Given the description of an element on the screen output the (x, y) to click on. 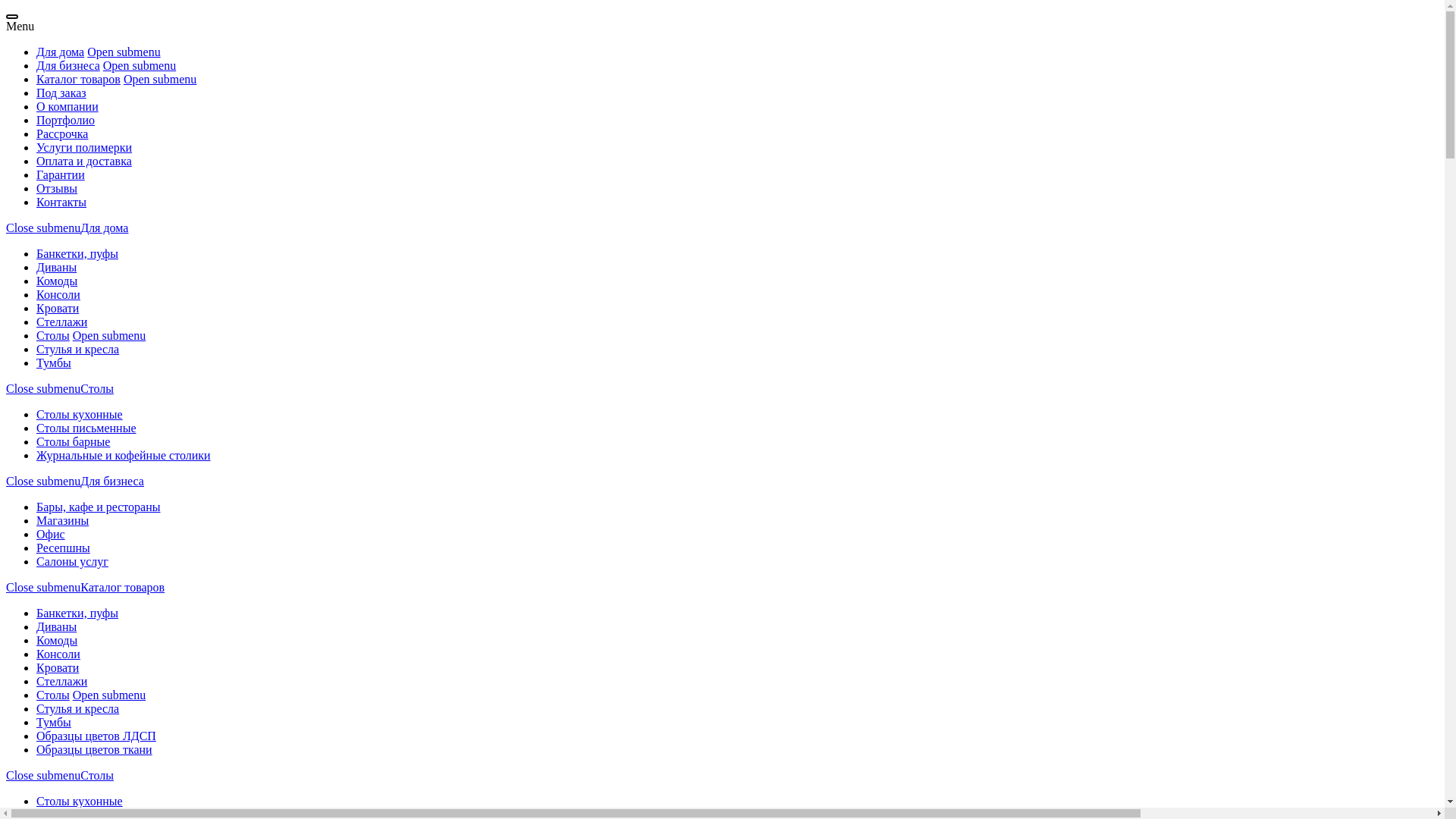
Open submenu Element type: text (139, 65)
Open submenu Element type: text (108, 694)
Close submenu Element type: text (43, 480)
Close submenu Element type: text (43, 586)
Open submenu Element type: text (123, 51)
Close submenu Element type: text (43, 388)
Close submenu Element type: text (43, 227)
Menu Element type: text (20, 25)
Close submenu Element type: text (43, 774)
Open submenu Element type: text (159, 78)
Open submenu Element type: text (108, 335)
